Given the description of an element on the screen output the (x, y) to click on. 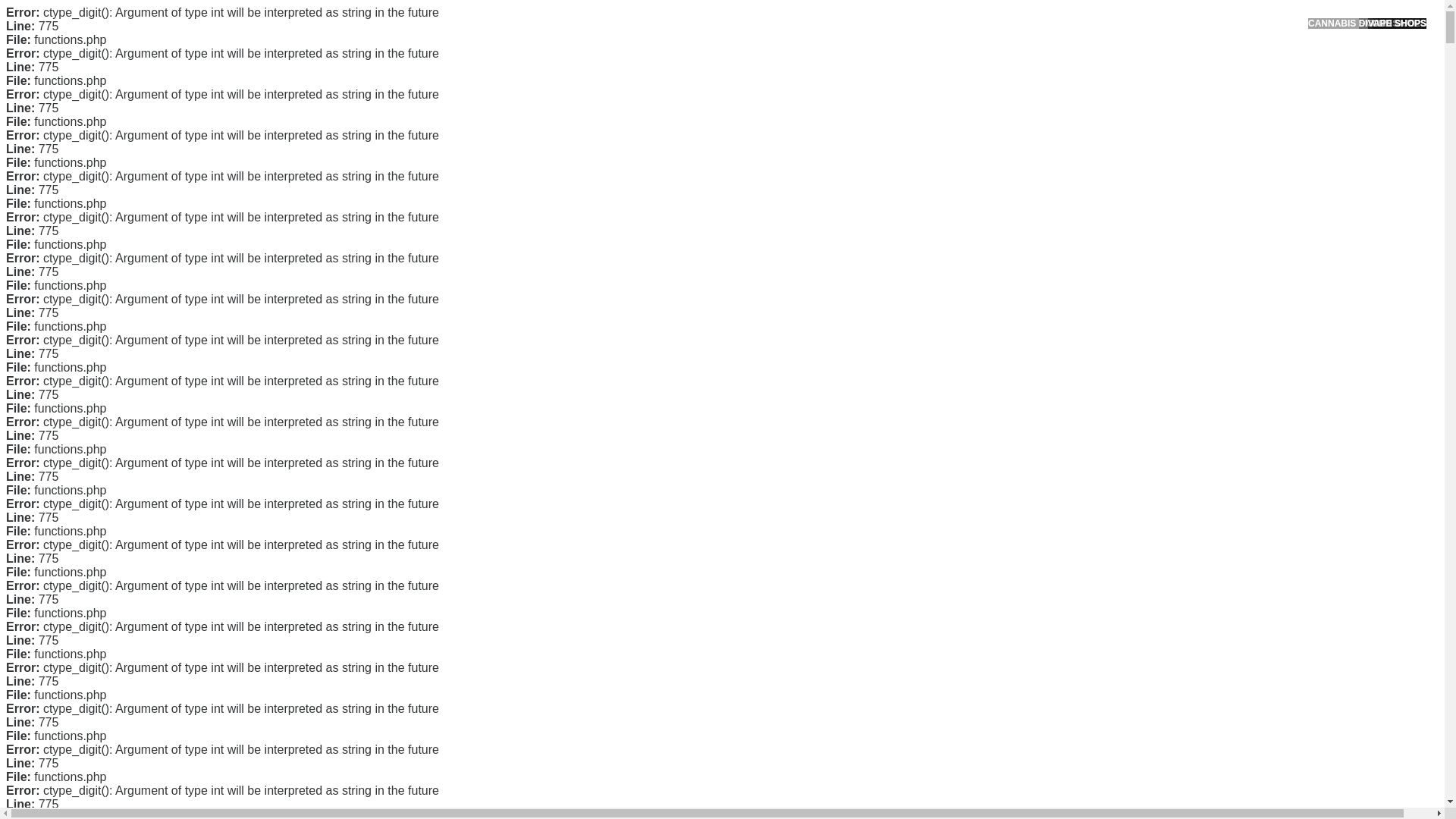
Contact Us (991, 258)
Privacy Policy (999, 306)
content (395, 517)
Search (1050, 85)
imp source (726, 517)
Terms of Use (996, 330)
Latest Article (996, 172)
Log in (980, 588)
Search (1050, 85)
go Here (513, 422)
Search for: (1049, 47)
August 2020 (996, 432)
ADMINISTRATOR (417, 81)
Blog (976, 510)
Skip to content (34, 9)
